Given the description of an element on the screen output the (x, y) to click on. 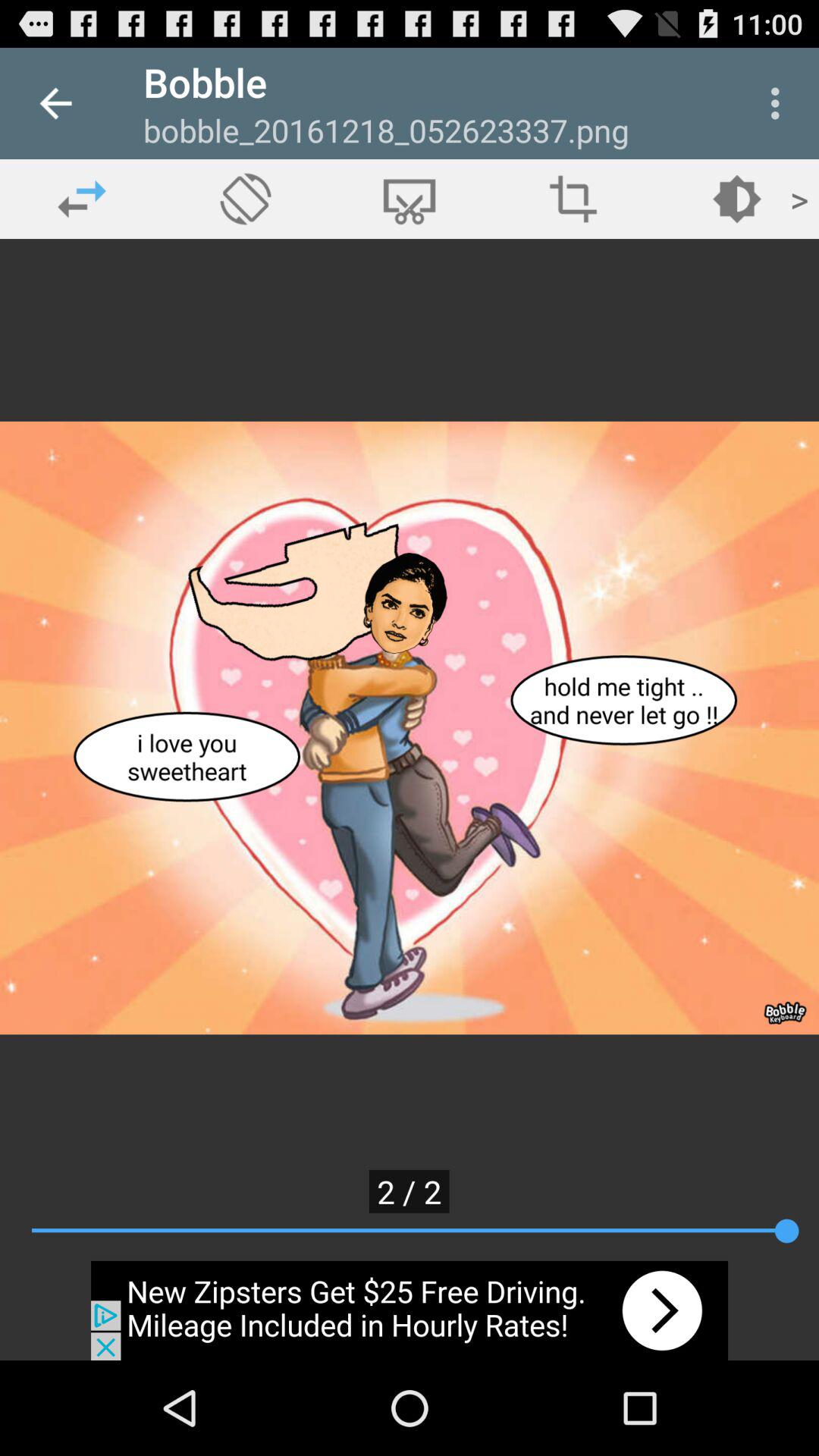
for crop (409, 198)
